Given the description of an element on the screen output the (x, y) to click on. 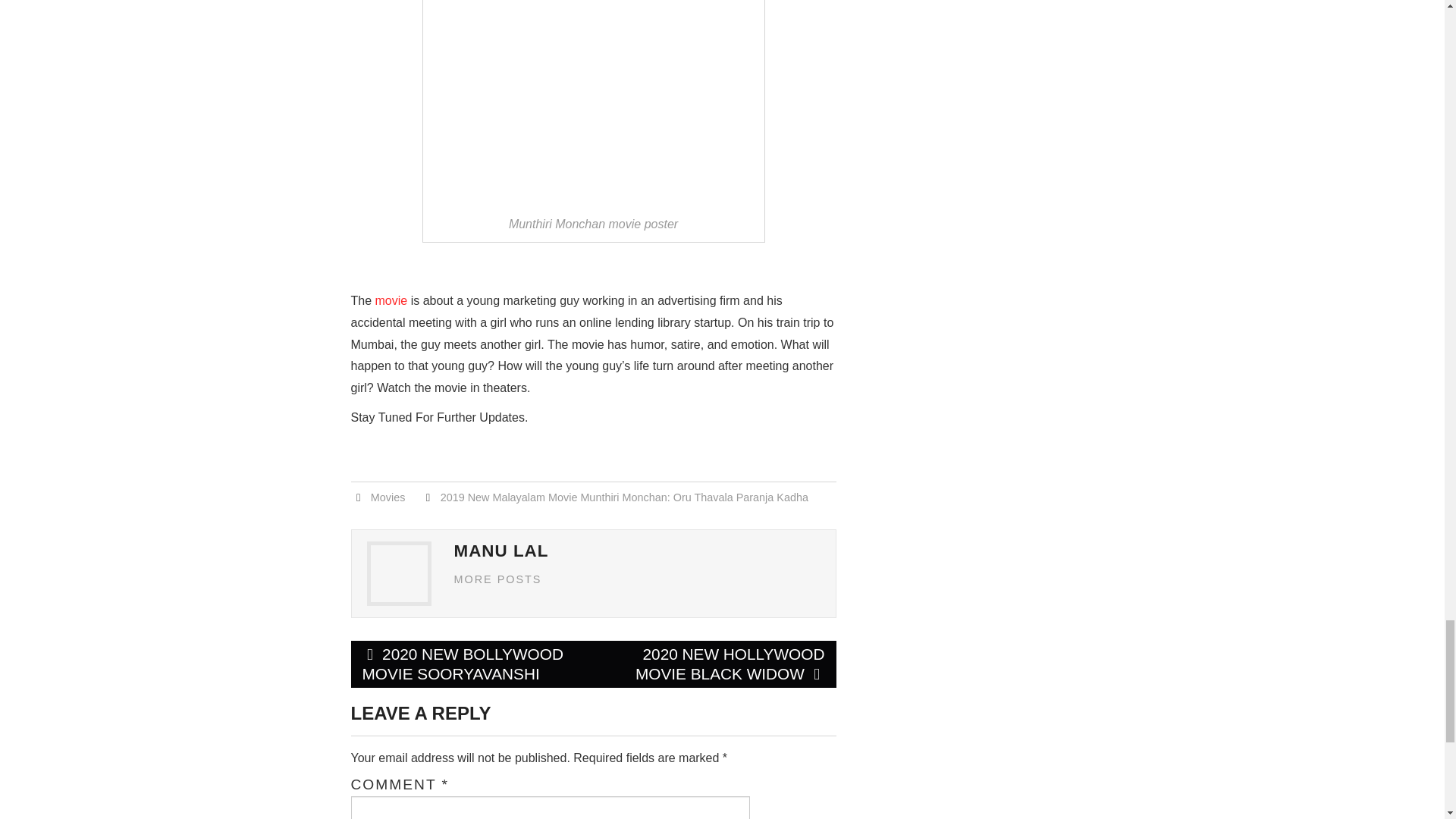
MORE POSTS (496, 579)
movie (391, 300)
2020 NEW HOLLYWOOD MOVIE BLACK WIDOW (713, 663)
2020 NEW BOLLYWOOD MOVIE SOORYAVANSHI (471, 663)
Movies (388, 497)
